Given the description of an element on the screen output the (x, y) to click on. 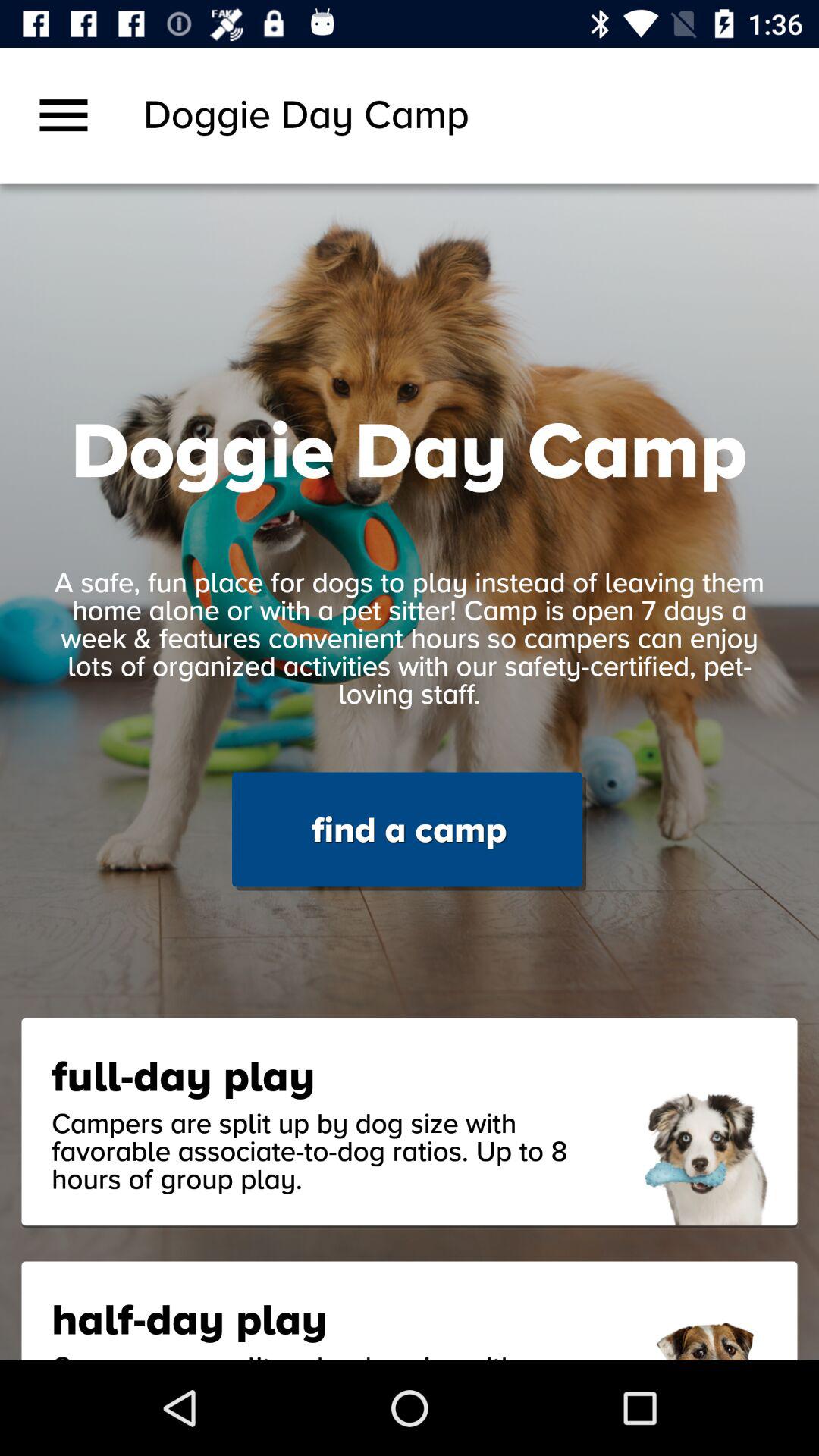
select the item at the top left corner (63, 115)
